Given the description of an element on the screen output the (x, y) to click on. 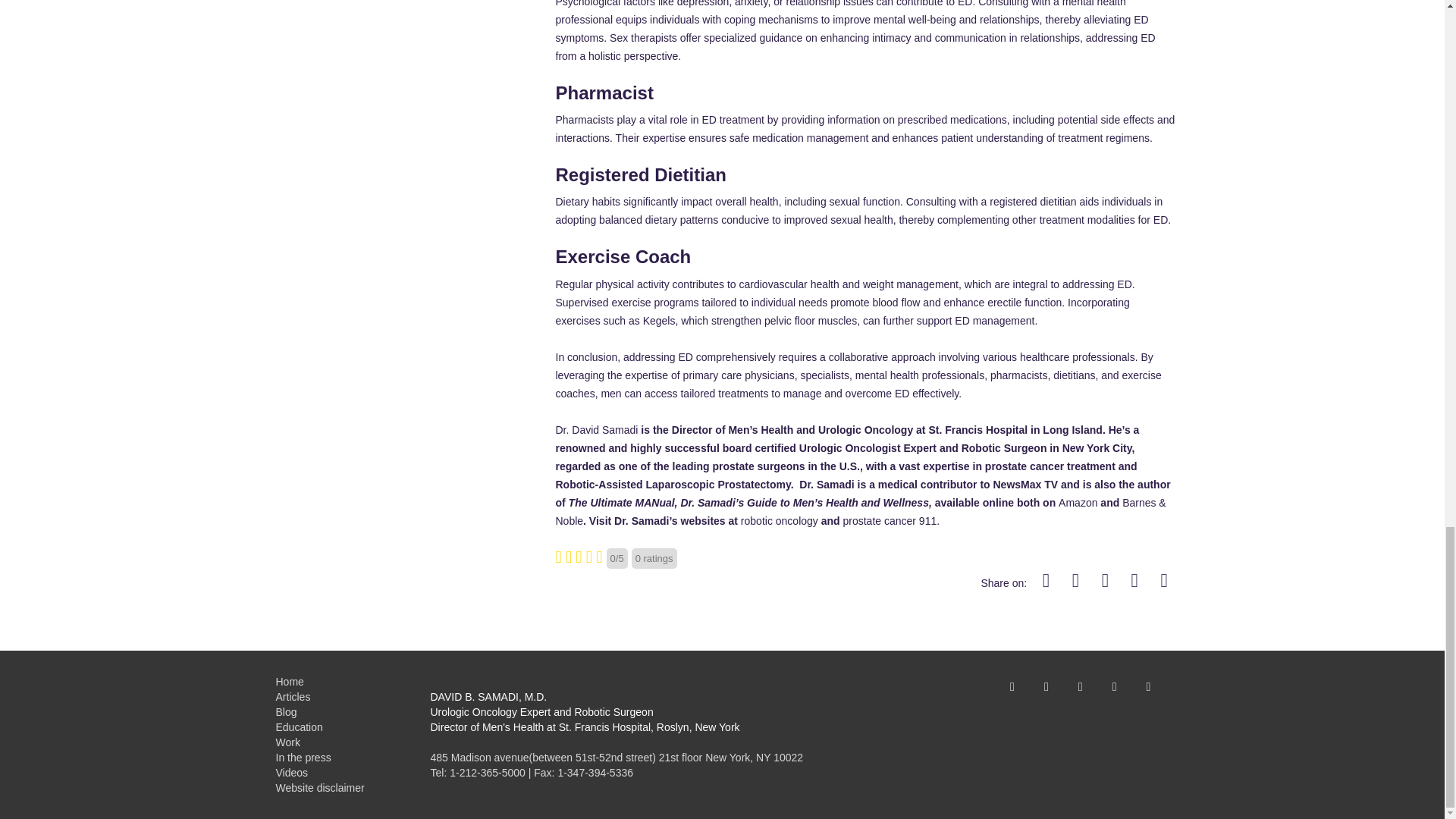
Share on Pinterest (1106, 582)
Share on LinkedIn (1136, 582)
Blog (286, 711)
Home (290, 681)
Articles (293, 696)
Share on WhatsApp (1164, 582)
Share on Facebook (1047, 582)
Dr. David Samadi (595, 429)
prostate cancer 911.  (892, 521)
Work (287, 742)
Work (287, 742)
In the press (303, 757)
Videos (292, 772)
Share on Twitter (1077, 582)
Home (290, 681)
